Given the description of an element on the screen output the (x, y) to click on. 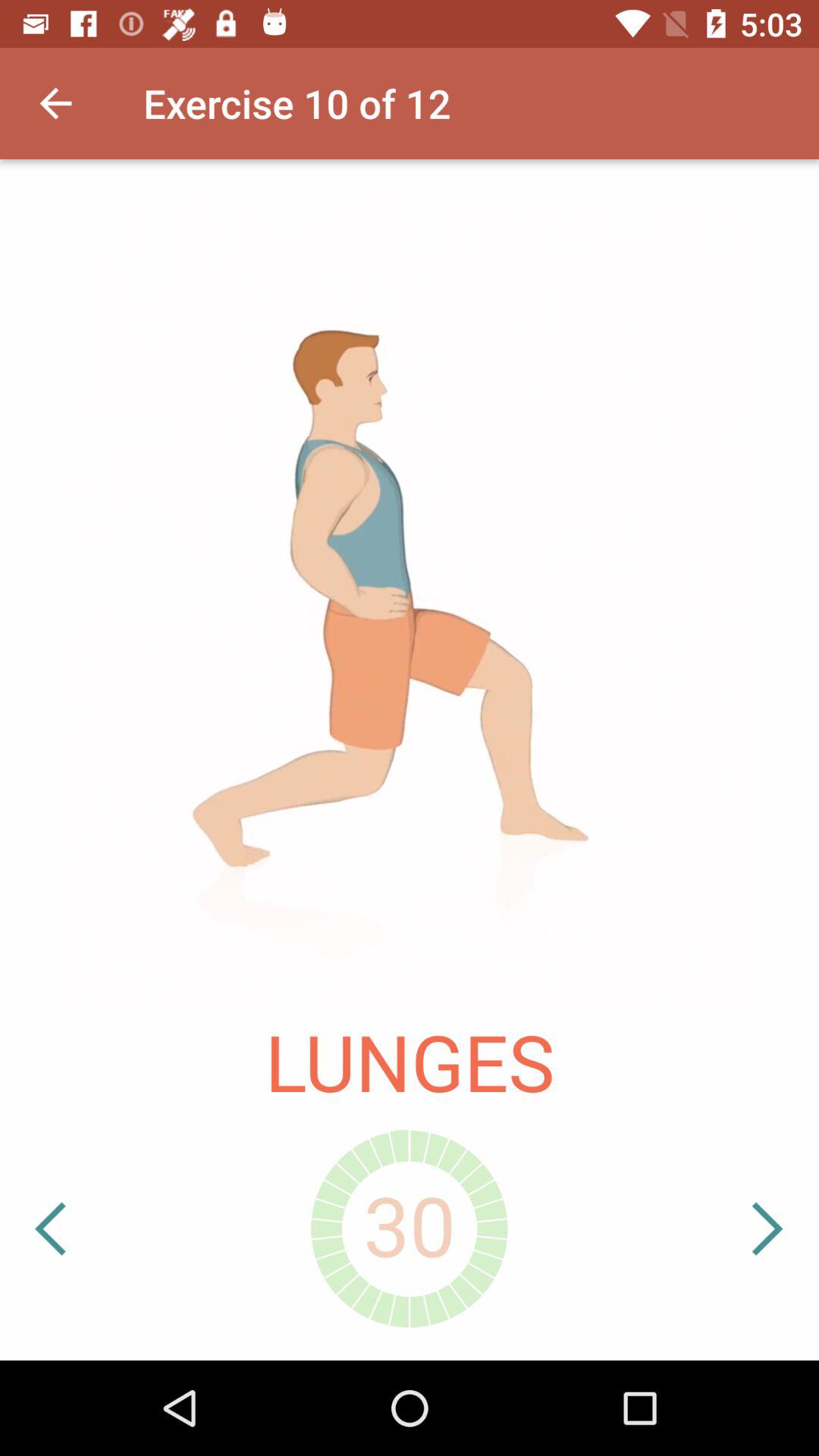
tap the icon below the lunges (721, 1228)
